Given the description of an element on the screen output the (x, y) to click on. 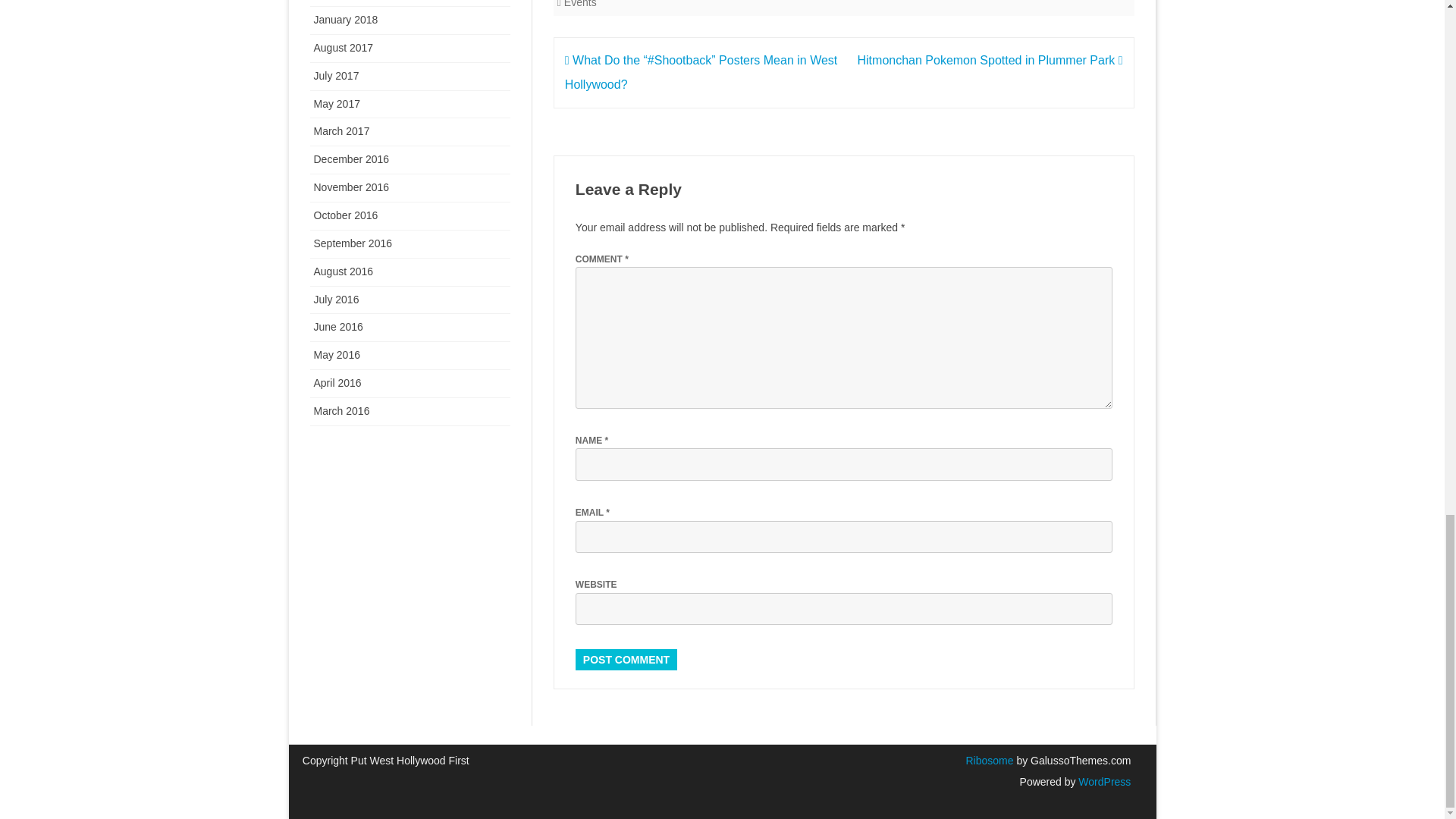
Hitmonchan Pokemon Spotted in Plummer Park (989, 60)
Post Comment (626, 659)
Events (580, 4)
Post Comment (626, 659)
